Given the description of an element on the screen output the (x, y) to click on. 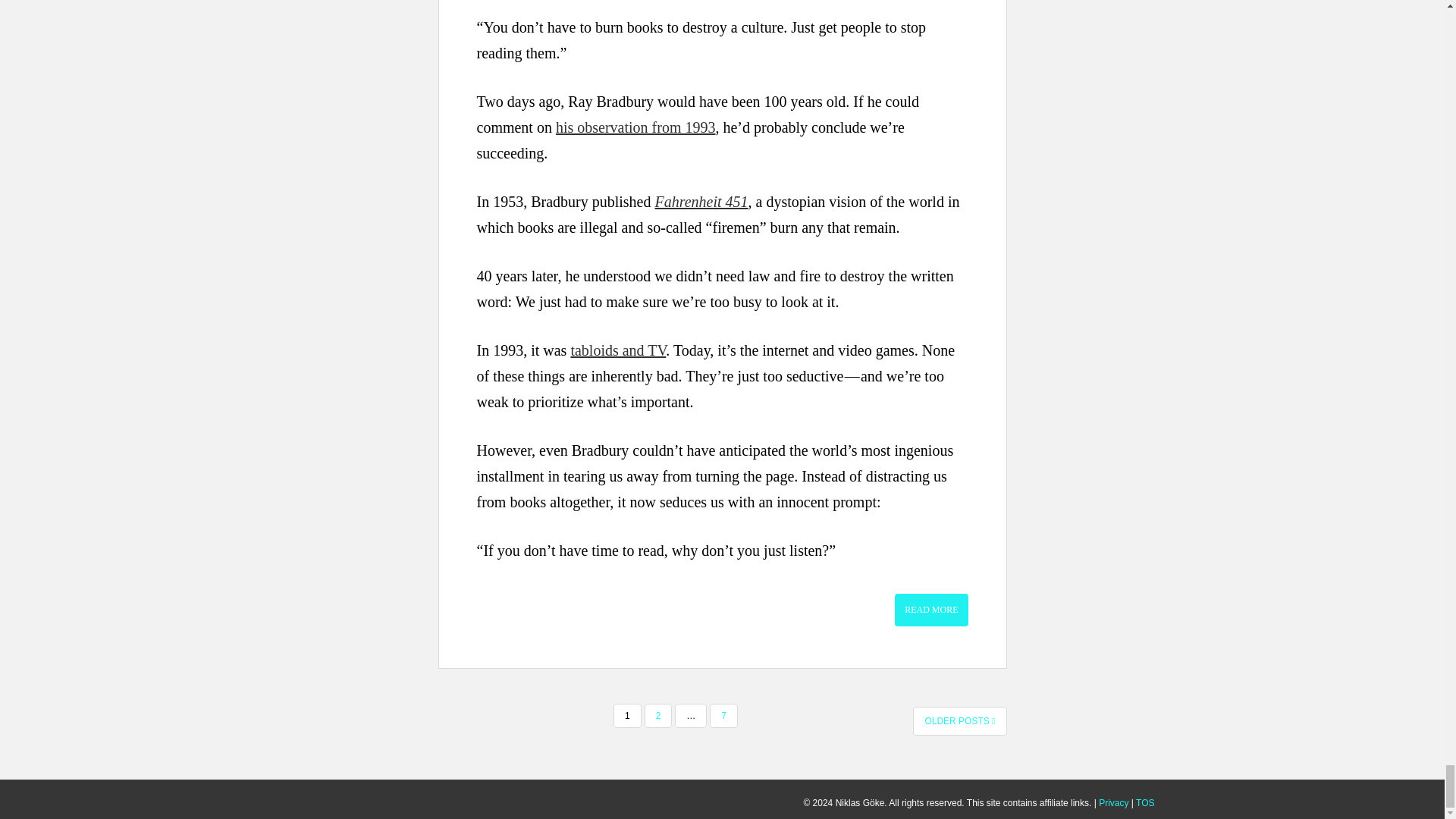
Privacy Policy (1113, 802)
Terms of Service (1144, 802)
